Given the description of an element on the screen output the (x, y) to click on. 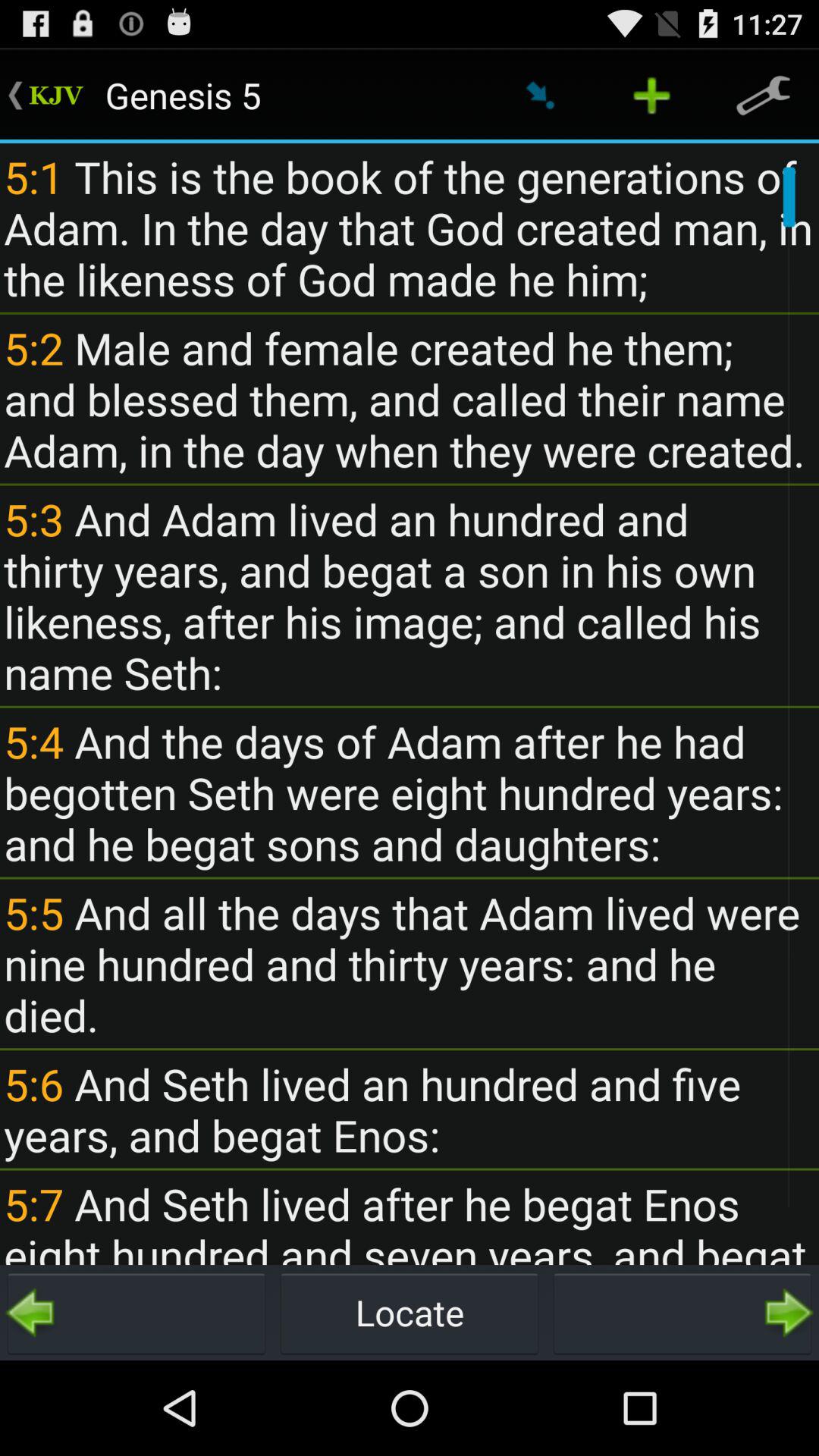
tap app below the 5 7 and item (682, 1312)
